Given the description of an element on the screen output the (x, y) to click on. 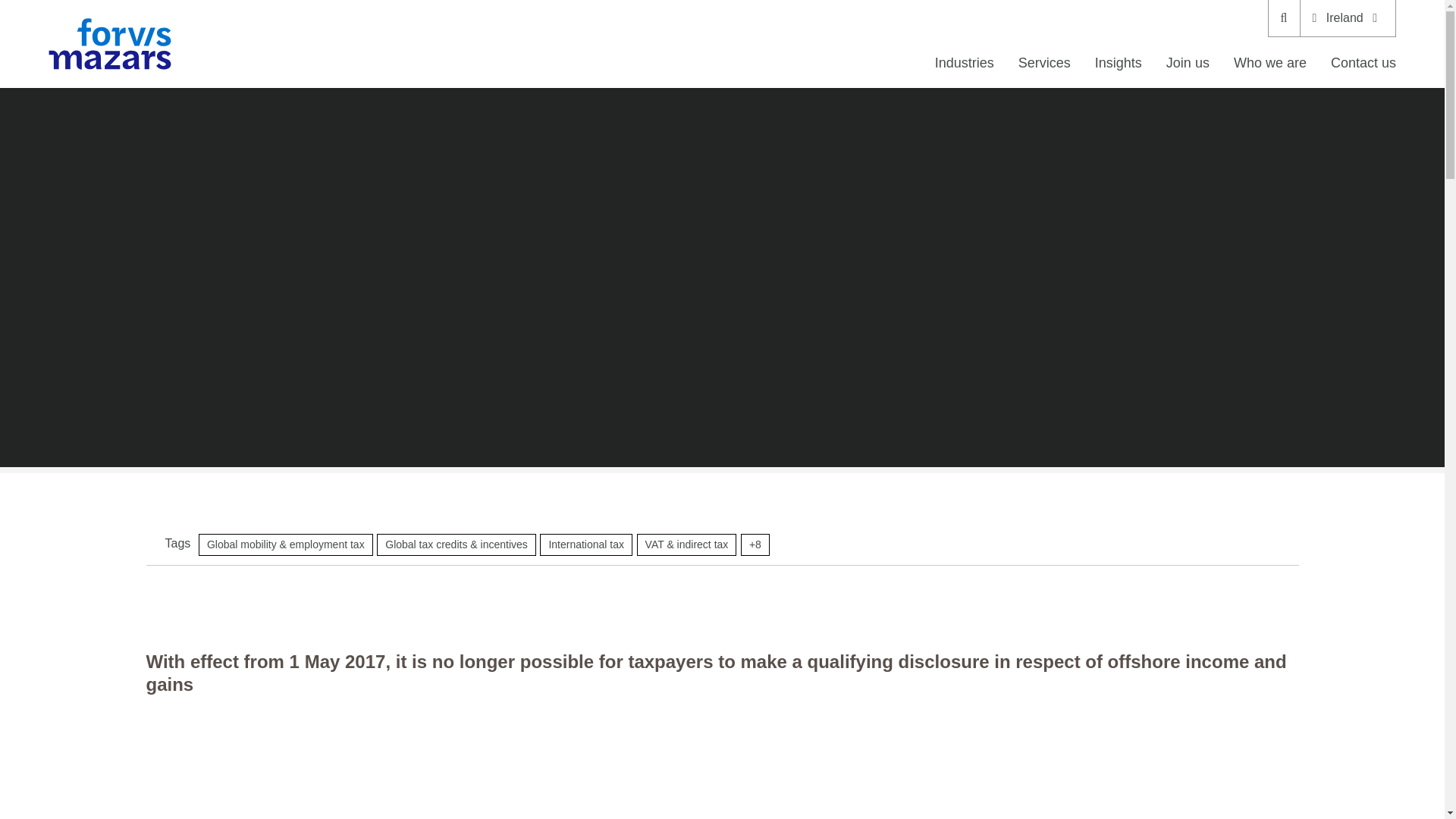
Ireland (1347, 18)
